Given the description of an element on the screen output the (x, y) to click on. 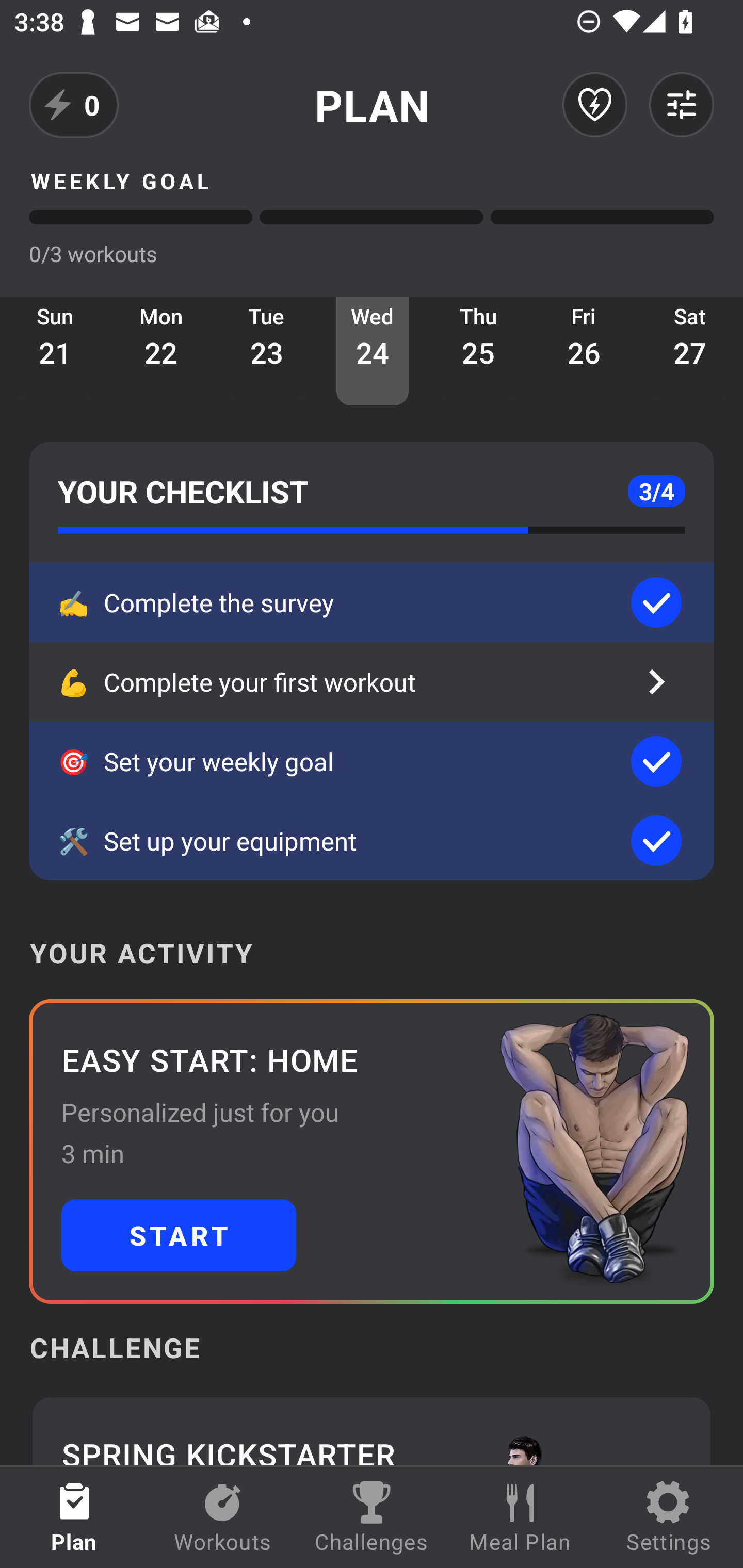
0 (73, 104)
Sun 21 (55, 351)
Mon 22 (160, 351)
Tue 23 (266, 351)
Wed 24 (372, 351)
Thu 25 (478, 351)
Fri 26 (584, 351)
Sat 27 (690, 351)
💪 Complete your first workout (371, 681)
START (178, 1235)
 Workouts  (222, 1517)
 Challenges  (371, 1517)
 Meal Plan  (519, 1517)
 Settings  (668, 1517)
